Given the description of an element on the screen output the (x, y) to click on. 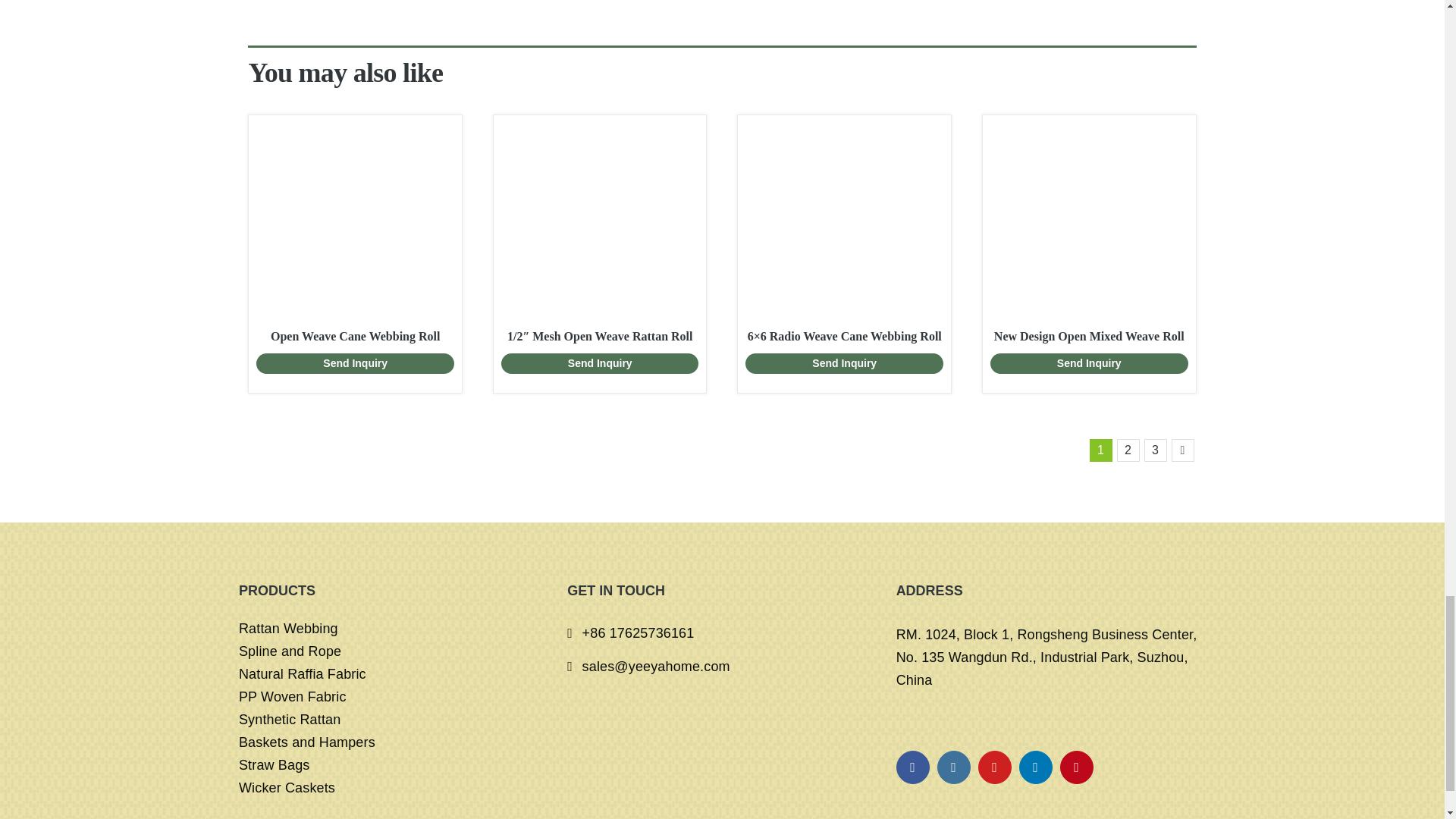
LinkedIn (1035, 767)
Facebook (913, 767)
Pinterest (1076, 767)
YouTube (994, 767)
Instagram (954, 767)
